Given the description of an element on the screen output the (x, y) to click on. 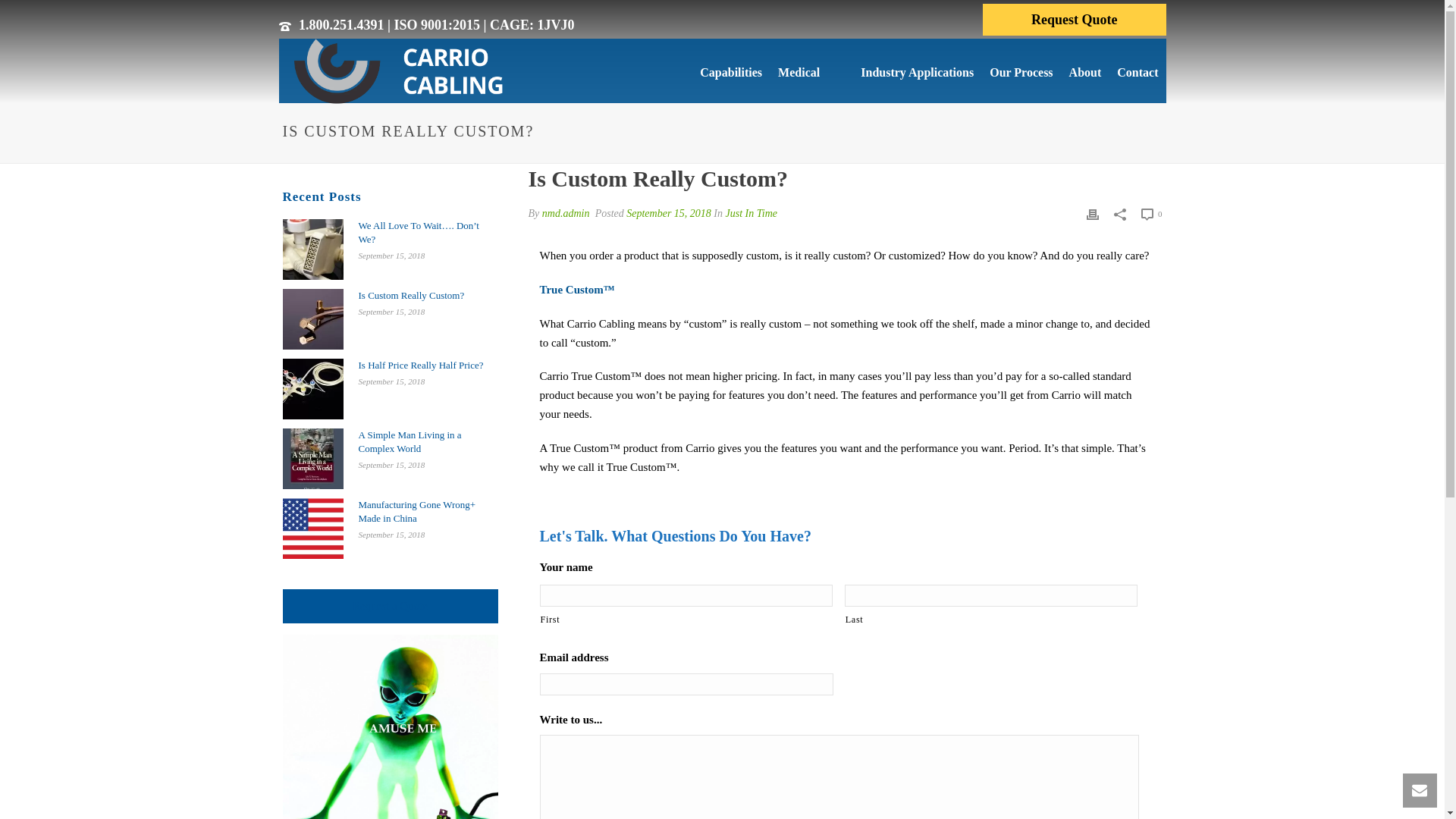
Capabilities (692, 70)
Industry Applications (904, 70)
Industry Applications (904, 70)
A Simple Man Living in a Complex World (312, 458)
Posts by nmd.admin (565, 213)
Is Half Price Really Half Price? (312, 388)
Is Custom Really Custom? (312, 319)
Our Process (1020, 70)
Capabilities (692, 70)
Request Quote (1074, 20)
